Given the description of an element on the screen output the (x, y) to click on. 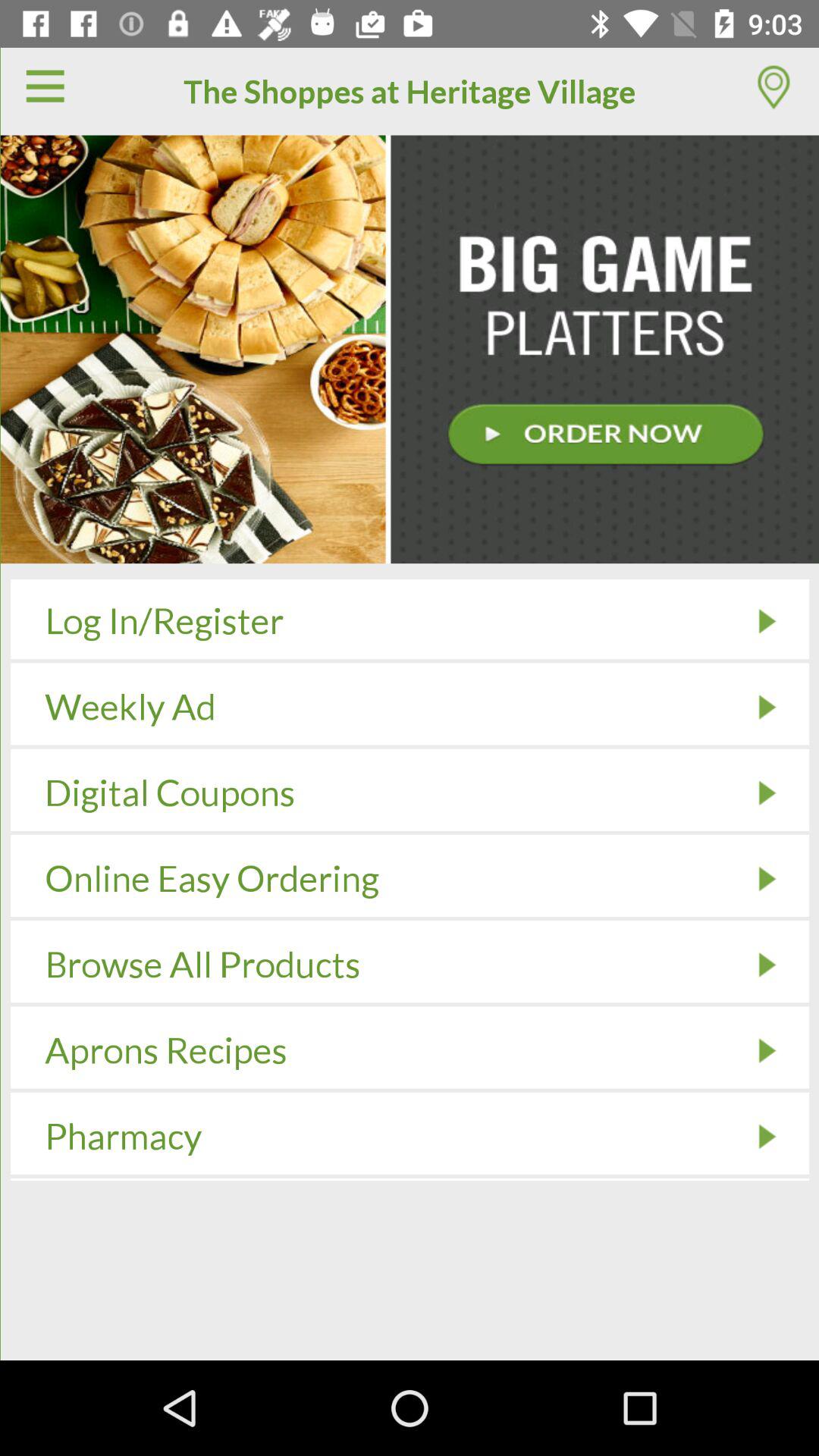
select the text browse all products (203, 964)
click on digital coupons icon (767, 792)
click on the green arrow beside weekly ad (767, 706)
select the icon to the right aprons recipes (767, 1050)
select the icon to the right of online easy ordering (767, 878)
select the next button just right to the digital coupons (767, 792)
